Given the description of an element on the screen output the (x, y) to click on. 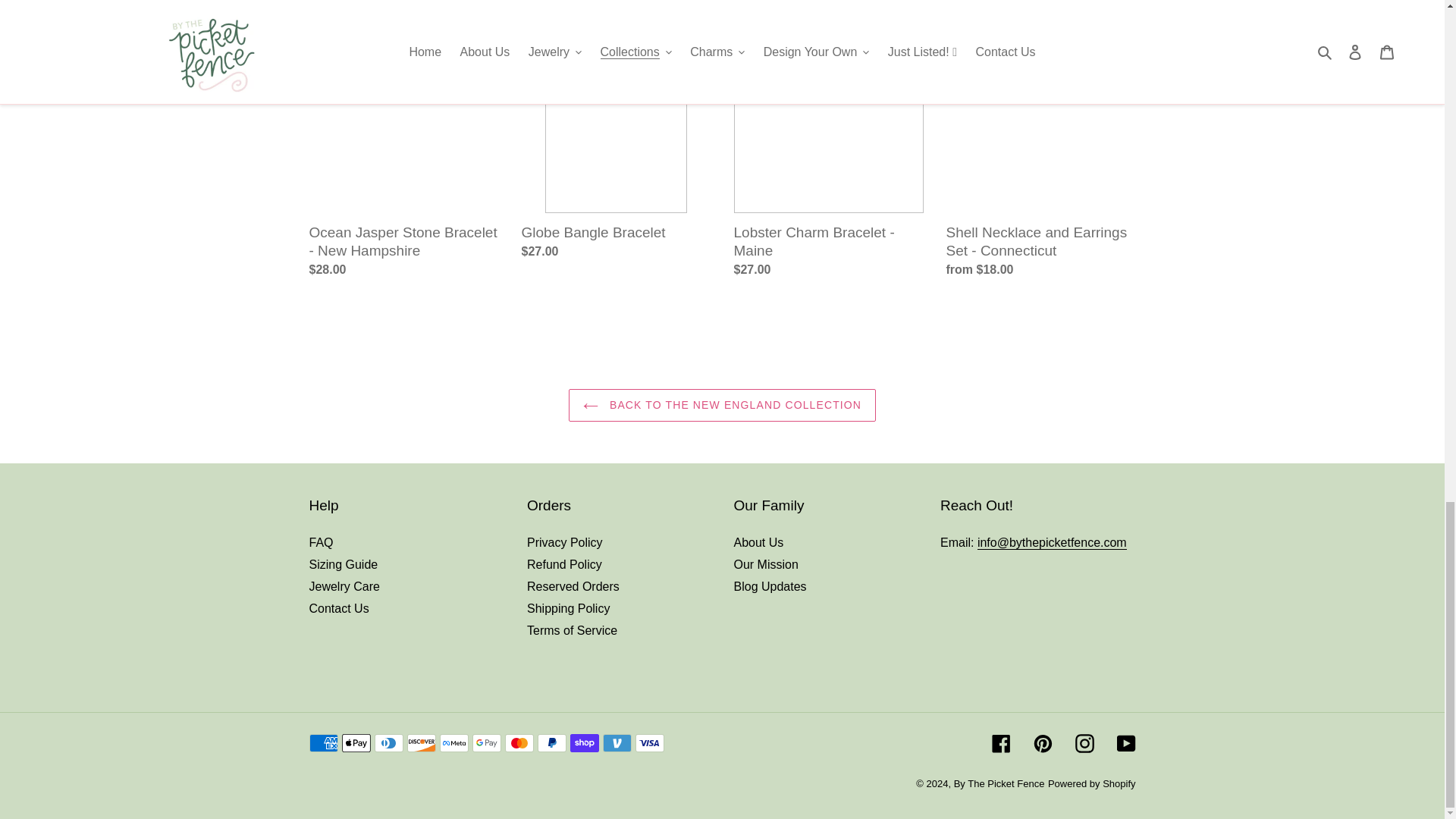
Apple Pay (354, 742)
Meta Pay (453, 742)
Diners Club (388, 742)
Contact Us (1051, 542)
American Express (322, 742)
Mastercard (519, 742)
PayPal (551, 742)
Discover (420, 742)
Google Pay (485, 742)
